Given the description of an element on the screen output the (x, y) to click on. 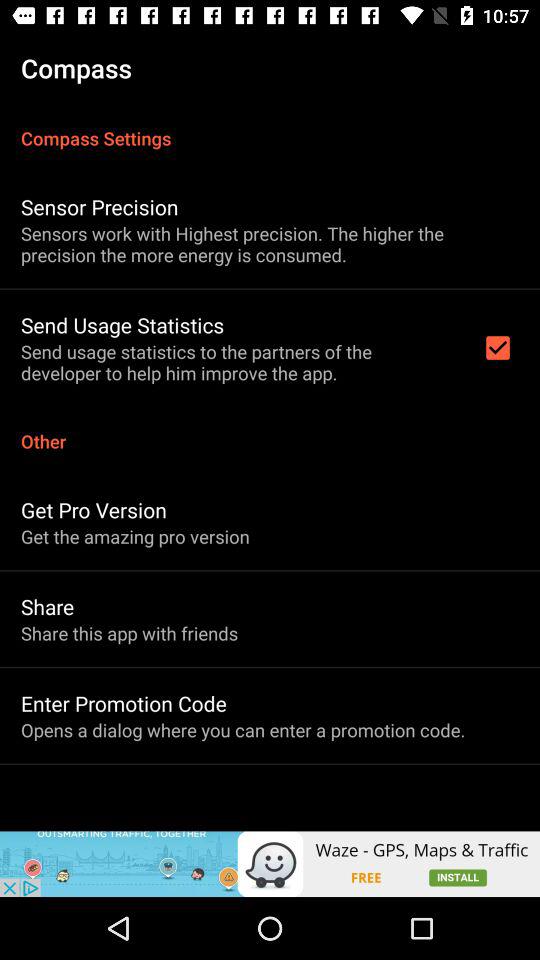
press the item below the compass app (270, 127)
